Given the description of an element on the screen output the (x, y) to click on. 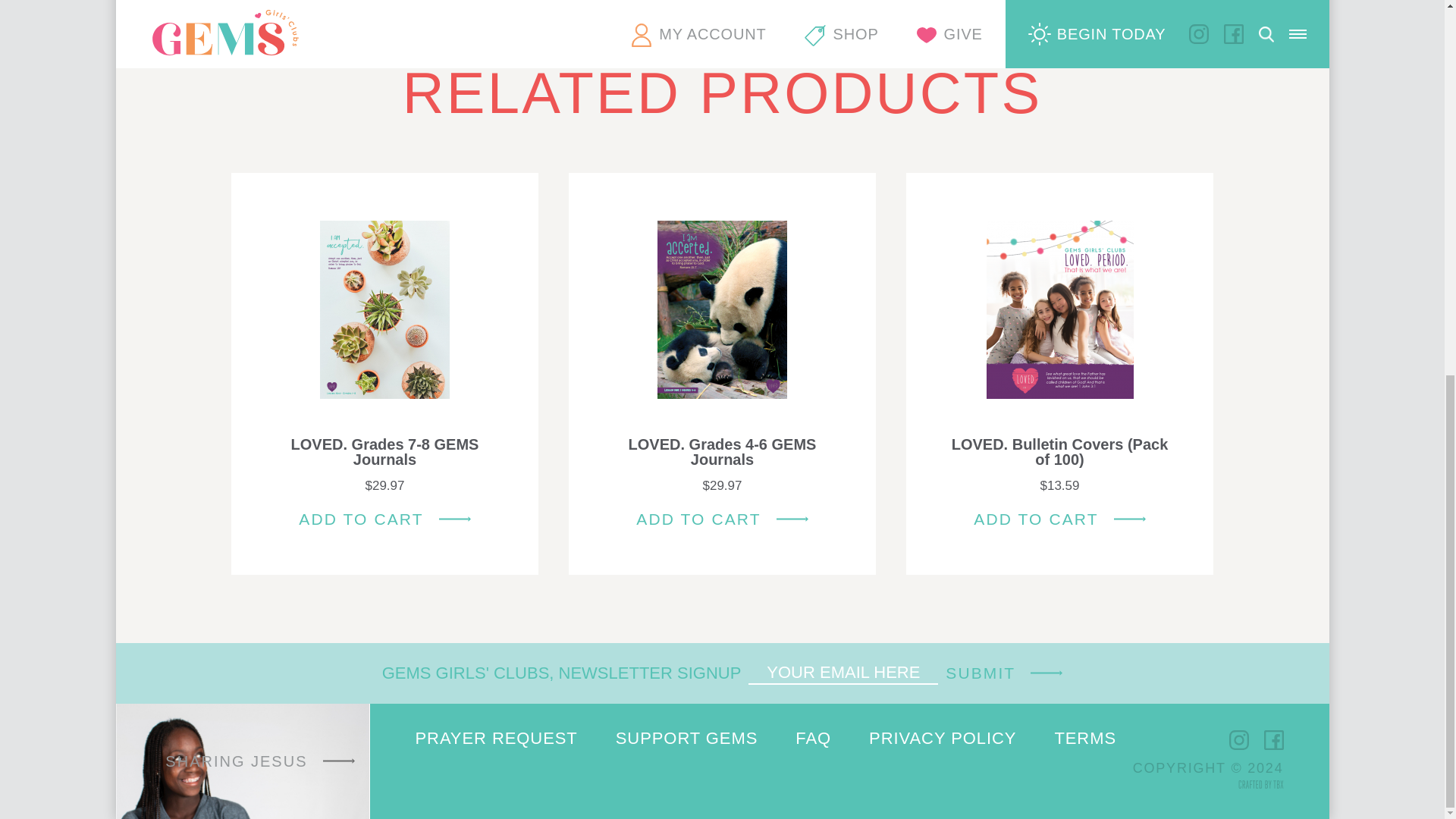
SUBMIT (1003, 672)
ADD TO CART (722, 519)
ADD TO CART (1059, 519)
FAQ (812, 737)
ADD TO CART (384, 519)
SUPPORT GEMS (686, 737)
Barnabas (429, 782)
EPA (506, 782)
PRAYER REQUEST (496, 737)
Facebook (1272, 740)
PRIVACY POLICY (942, 737)
Instagram (1237, 740)
TERMS (1085, 737)
